Given the description of an element on the screen output the (x, y) to click on. 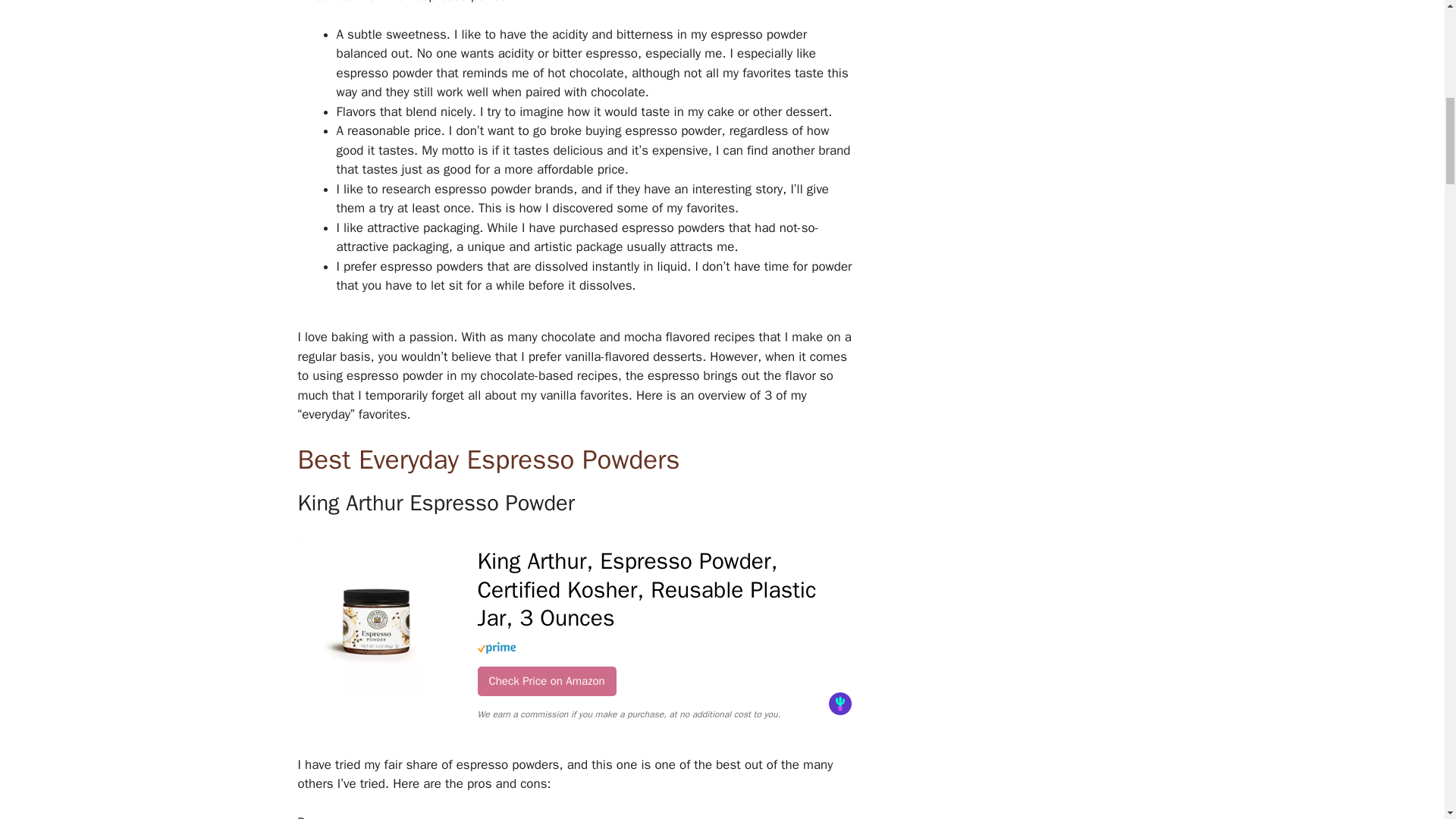
Check Price on Amazon (546, 681)
